Given the description of an element on the screen output the (x, y) to click on. 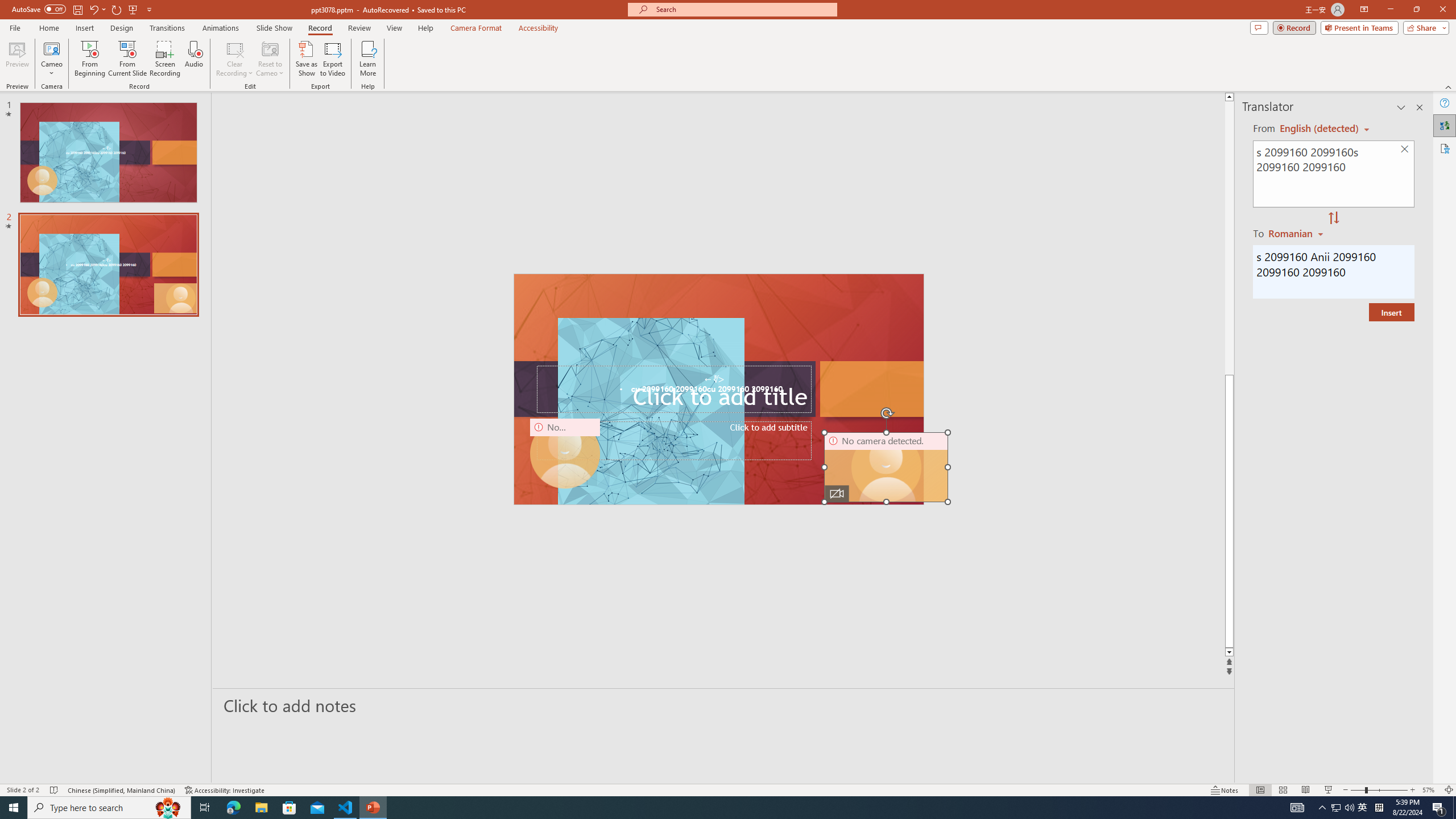
Close pane (1419, 107)
Share (1423, 27)
Restore Down (1416, 9)
From Beginning... (89, 58)
AutoSave (38, 9)
Zoom 57% (1430, 790)
Camera 9, No camera detected. (564, 453)
Camera Format (475, 28)
Zoom (1379, 790)
Close (1442, 9)
